Given the description of an element on the screen output the (x, y) to click on. 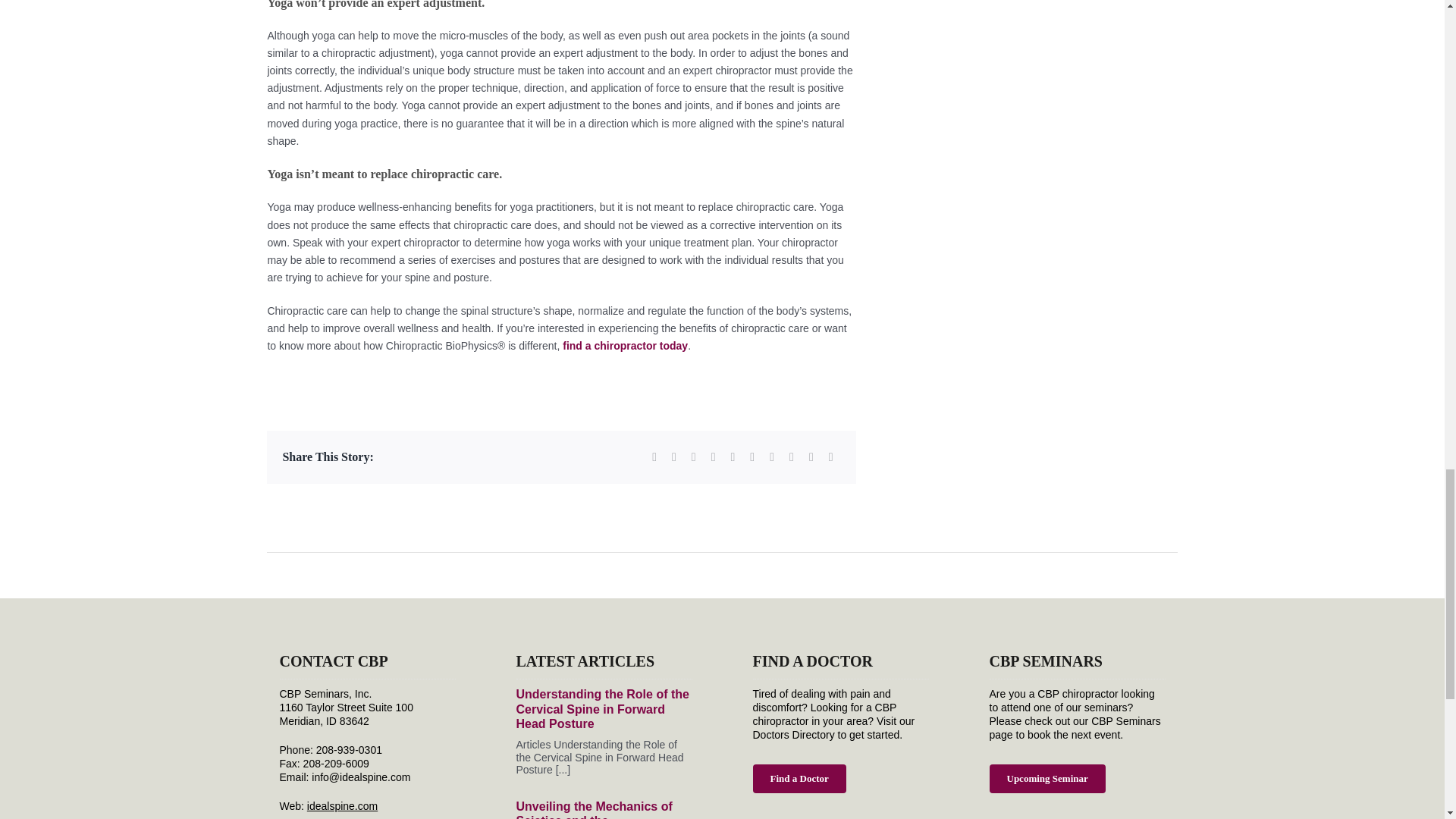
Reddit (693, 457)
LinkedIn (713, 457)
Email (831, 457)
Tumblr (751, 457)
Pinterest (771, 457)
Facebook (654, 457)
X (673, 457)
Xing (811, 457)
Vk (791, 457)
WhatsApp (732, 457)
